Given the description of an element on the screen output the (x, y) to click on. 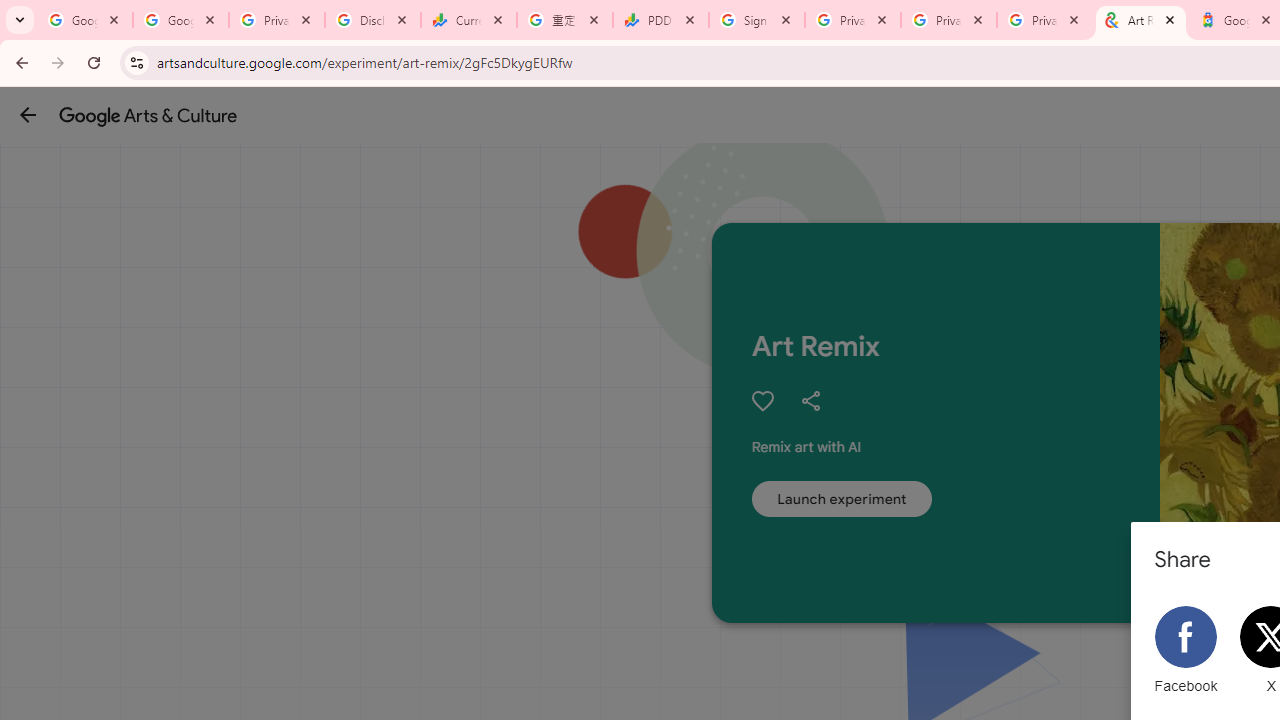
Privacy Checkup (949, 20)
Currencies - Google Finance (469, 20)
PDD Holdings Inc - ADR (PDD) Price & News - Google Finance (661, 20)
